Given the description of an element on the screen output the (x, y) to click on. 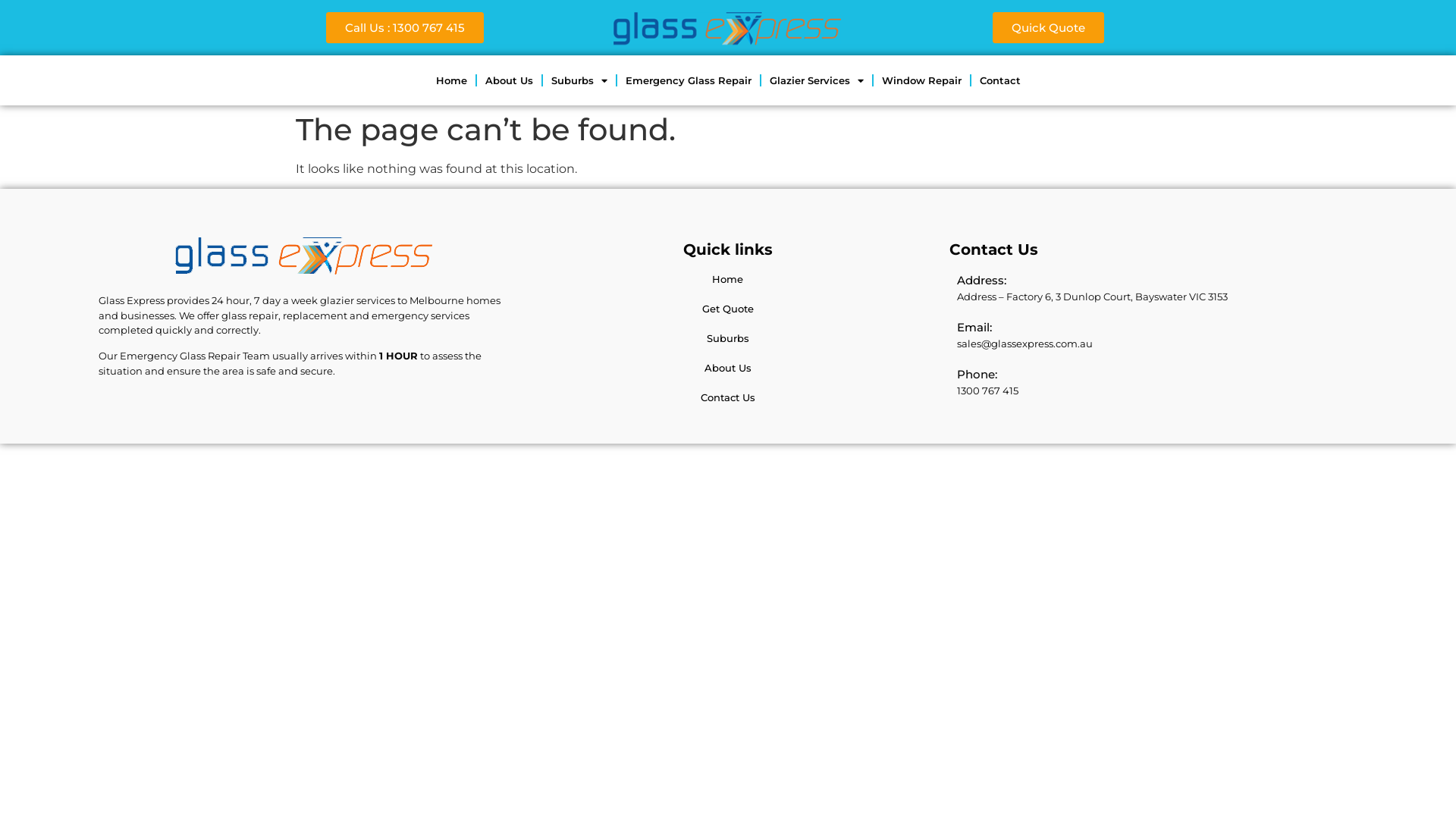
Window Repair Element type: text (921, 79)
1300 767 415 Element type: text (987, 390)
Glazier Services Element type: text (816, 79)
Contact Element type: text (999, 79)
Quick Quote Element type: text (1048, 27)
Home Element type: text (727, 279)
About Us Element type: text (508, 79)
Contact Us Element type: text (727, 397)
Get Quote Element type: text (727, 308)
Home Element type: text (451, 79)
Email: Element type: text (974, 327)
Suburbs Element type: text (727, 338)
Emergency Glass Repair Element type: text (688, 79)
Call Us : 1300 767 415 Element type: text (404, 27)
Suburbs Element type: text (578, 79)
sales@glassexpress.com.au Element type: text (1024, 343)
About Us Element type: text (727, 367)
Phone: Element type: text (977, 374)
